Given the description of an element on the screen output the (x, y) to click on. 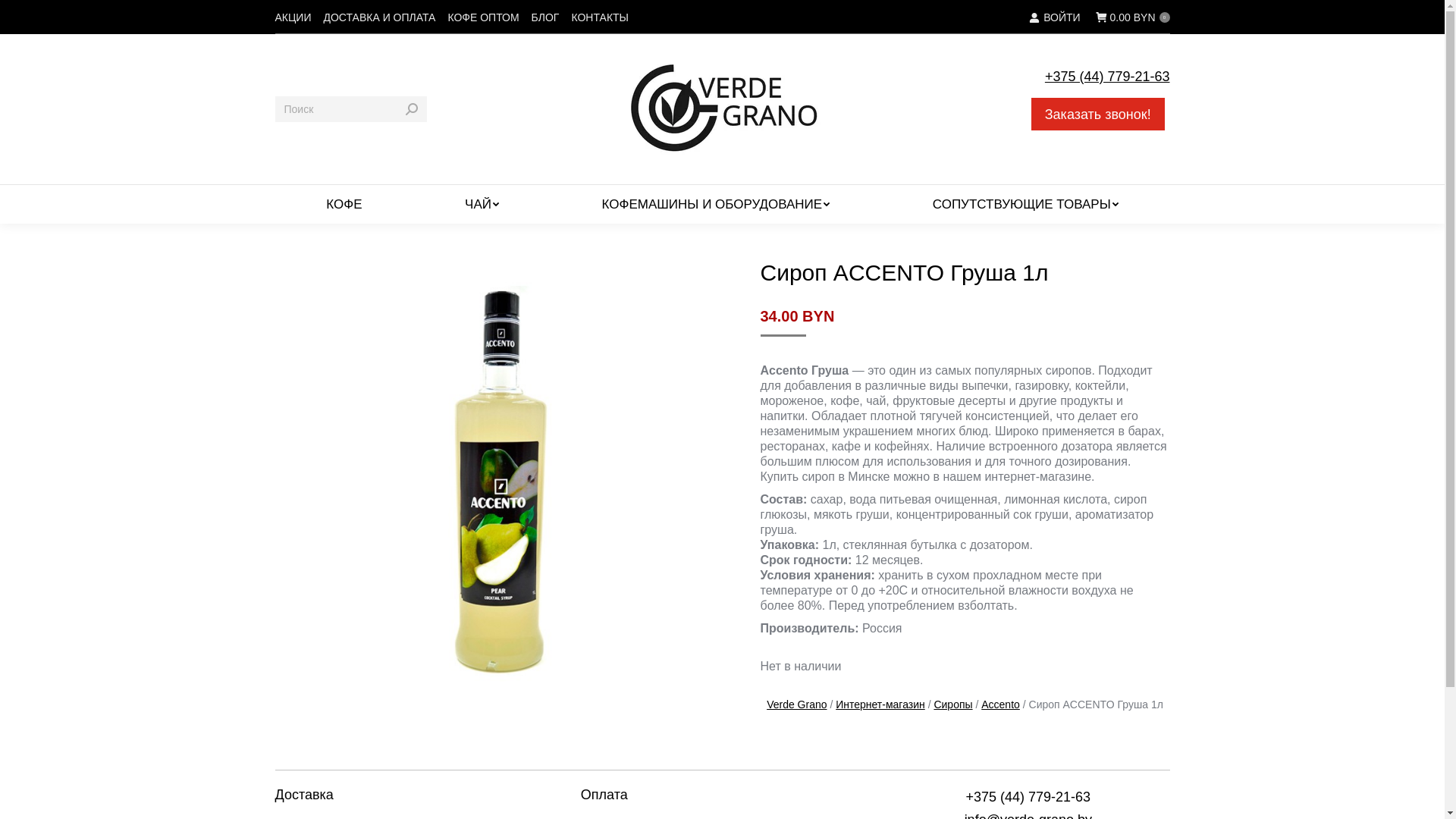
0.00 BYN
0 Element type: text (1132, 16)
Accento Element type: text (1000, 704)
+375 (44) 779-21-63 Element type: text (1028, 796)
+375 (44) 779-21-63 Element type: text (1107, 76)
Verde Grano Element type: text (796, 704)
